Given the description of an element on the screen output the (x, y) to click on. 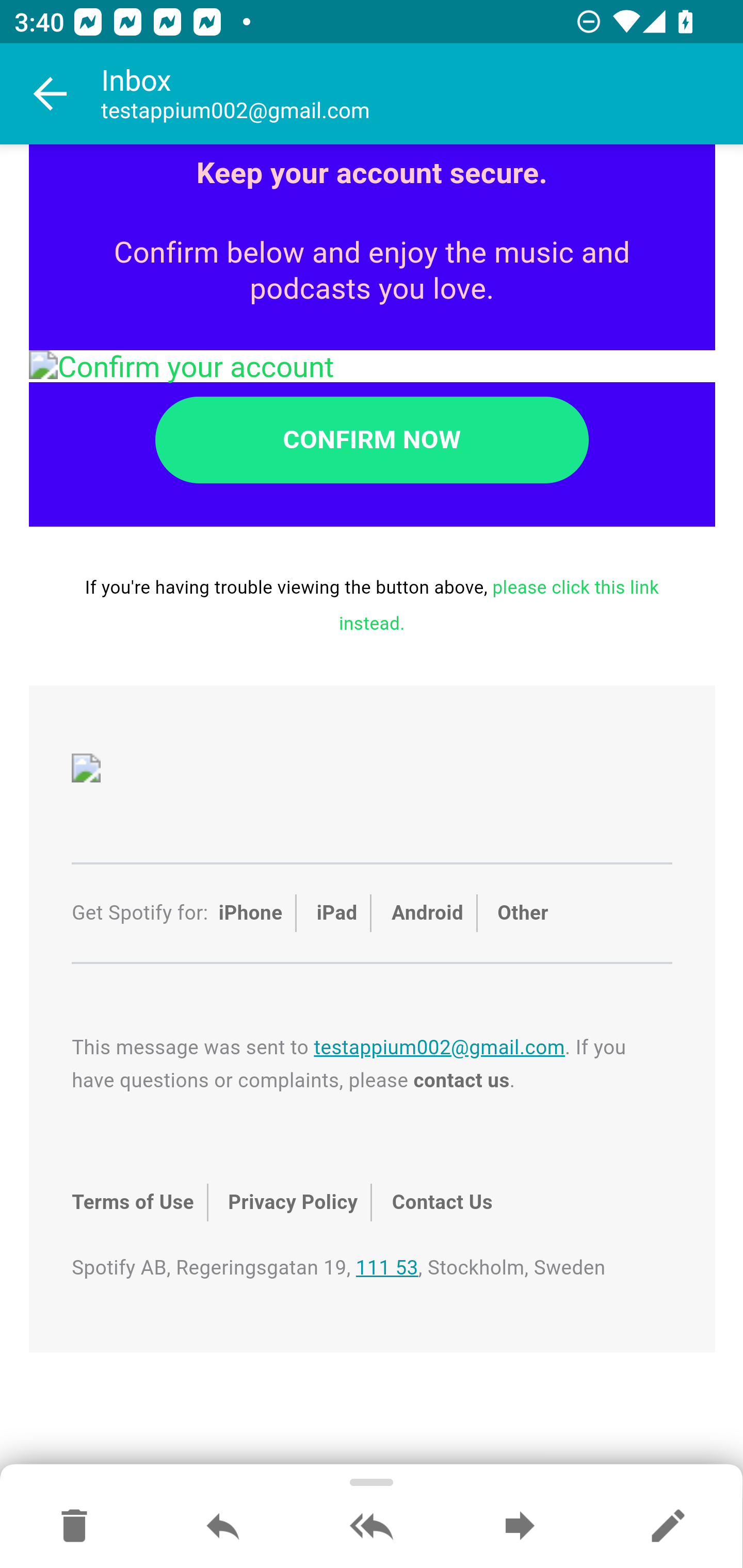
Navigate up (50, 93)
Inbox testappium002@gmail.com (422, 93)
Confirm your account (372, 366)
CONFIRM NOW (371, 439)
please click this link instead. (499, 605)
iPhone (249, 913)
iPad (336, 913)
Android (426, 913)
Other (522, 913)
testappium002@gmail.com (439, 1048)
contact us (461, 1081)
Terms of Use (131, 1202)
Privacy Policy (292, 1202)
Contact Us (441, 1202)
111 53 (386, 1266)
Move to Deleted (74, 1527)
Reply (222, 1527)
Reply all (371, 1527)
Forward (519, 1527)
Reply as new (667, 1527)
